Given the description of an element on the screen output the (x, y) to click on. 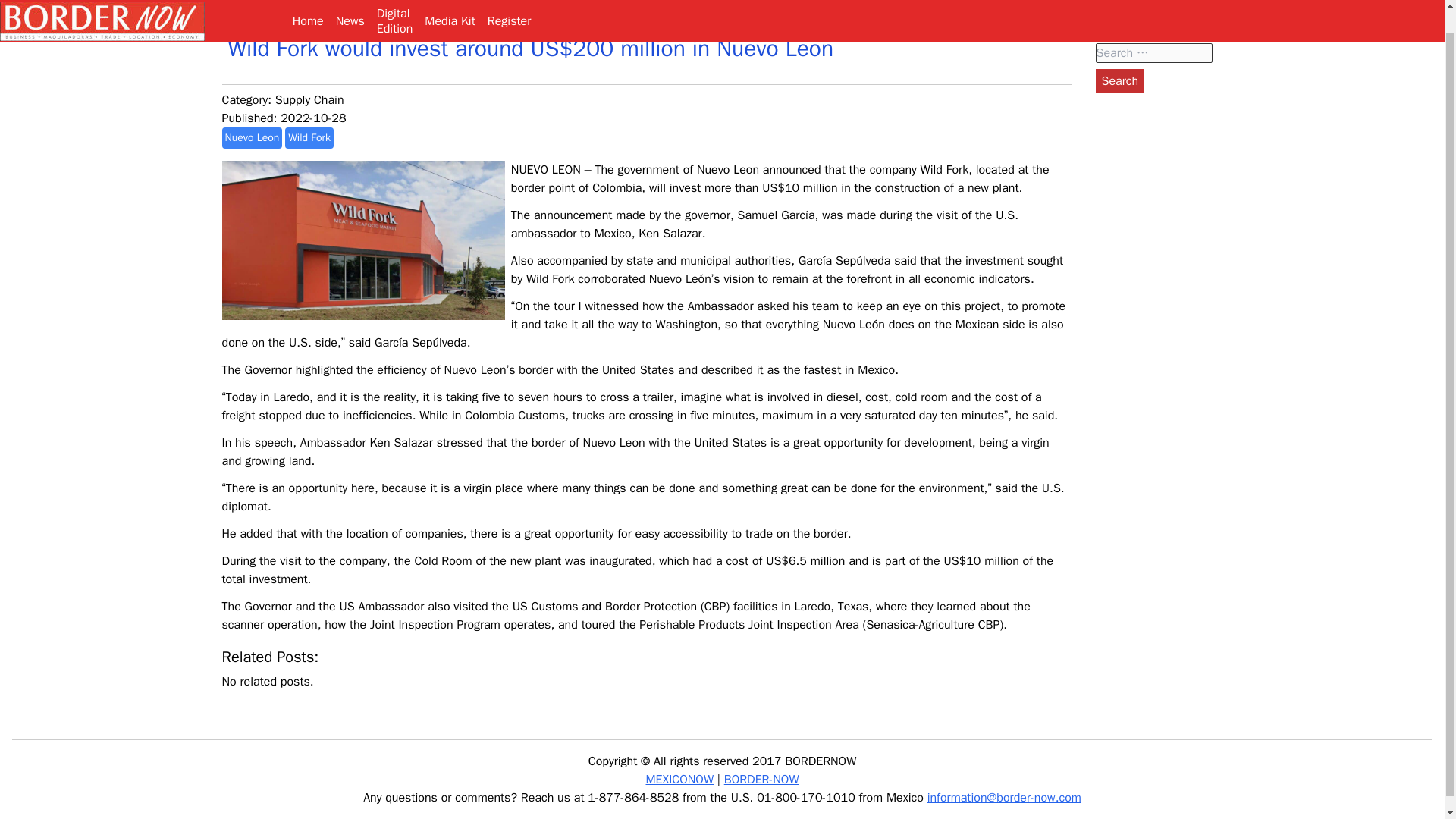
Register (509, 9)
Wild Fork (309, 137)
Wild Fork Tag (395, 9)
Search (309, 137)
Search (1119, 80)
MEXICONOW (1119, 80)
Nuevo Leon Tag (679, 779)
Media Kit (251, 137)
Supply Chain (449, 9)
Home (309, 99)
Search (308, 9)
BORDER-NOW (1119, 80)
Nuevo Leon (761, 779)
